Given the description of an element on the screen output the (x, y) to click on. 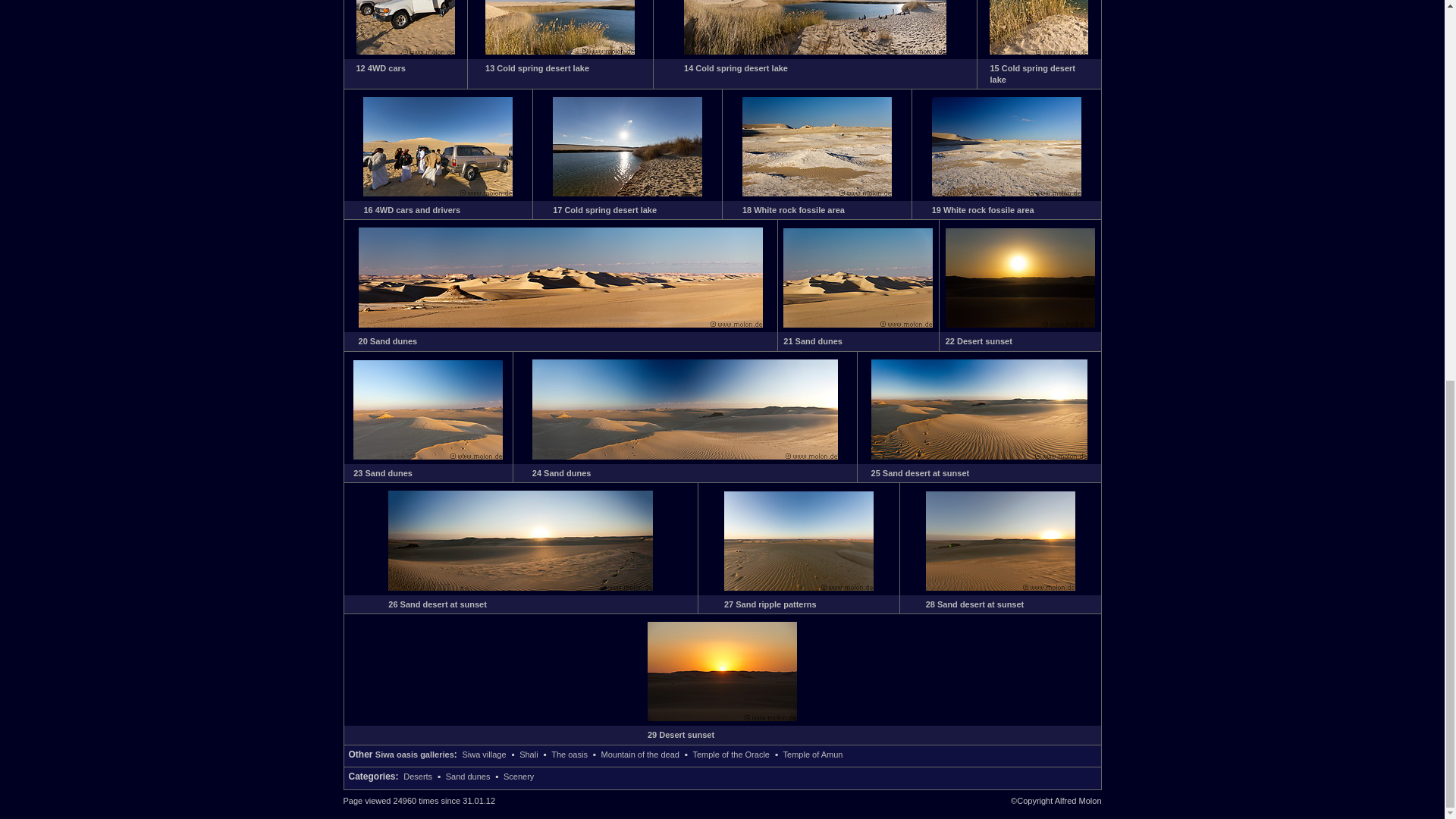
Image EG58283 - click to enlarge (437, 193)
Image EG58281 - click to enlarge (815, 51)
Image EG58282 - click to enlarge (1038, 51)
13 Cold spring desert lake (536, 67)
12 4WD cars (381, 67)
Image EG58279 - click to enlarge (405, 51)
Image EG58284 - click to enlarge (627, 193)
Image EG58280 - click to enlarge (559, 51)
